Given the description of an element on the screen output the (x, y) to click on. 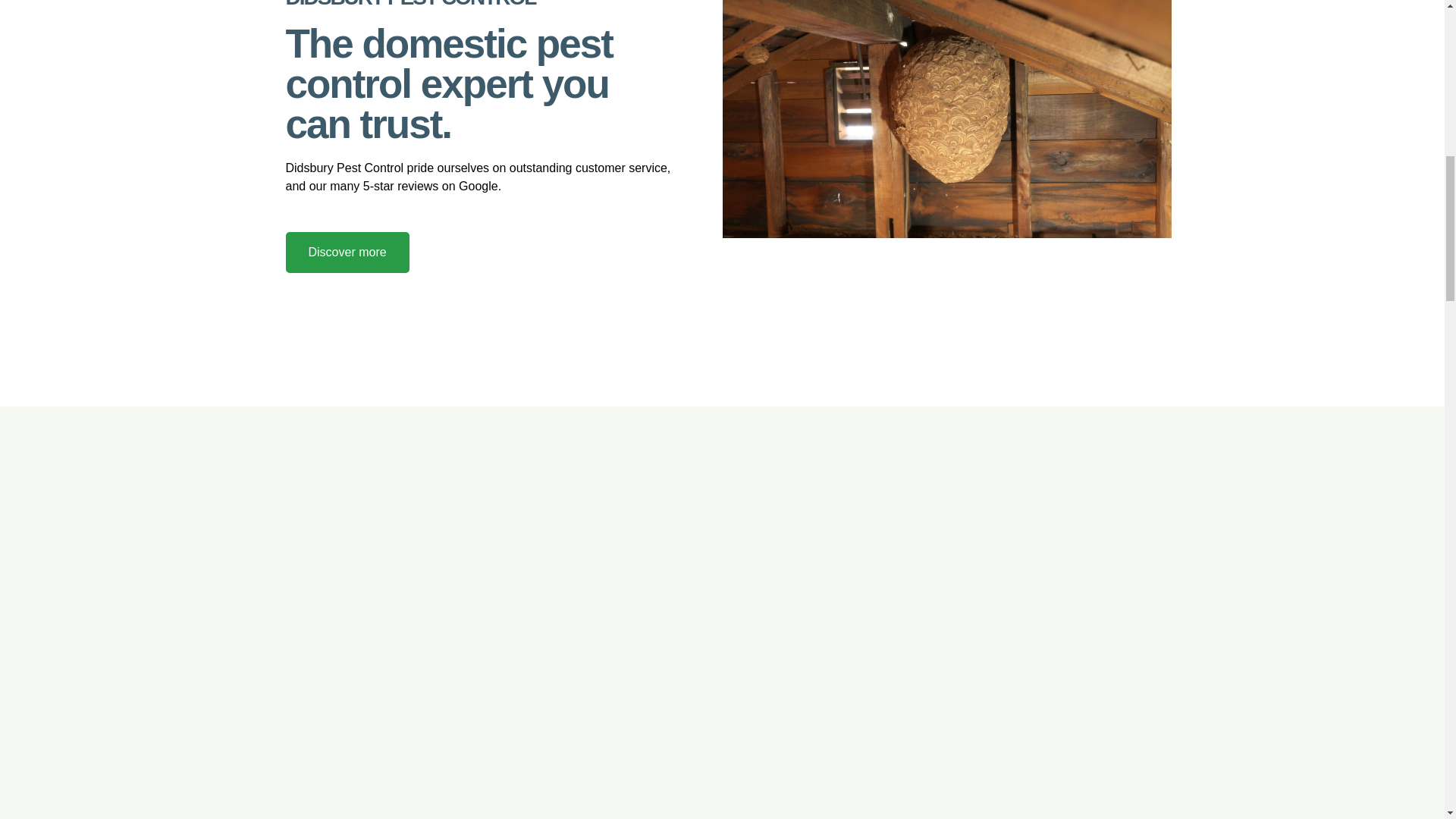
Discover more (467, 251)
